Given the description of an element on the screen output the (x, y) to click on. 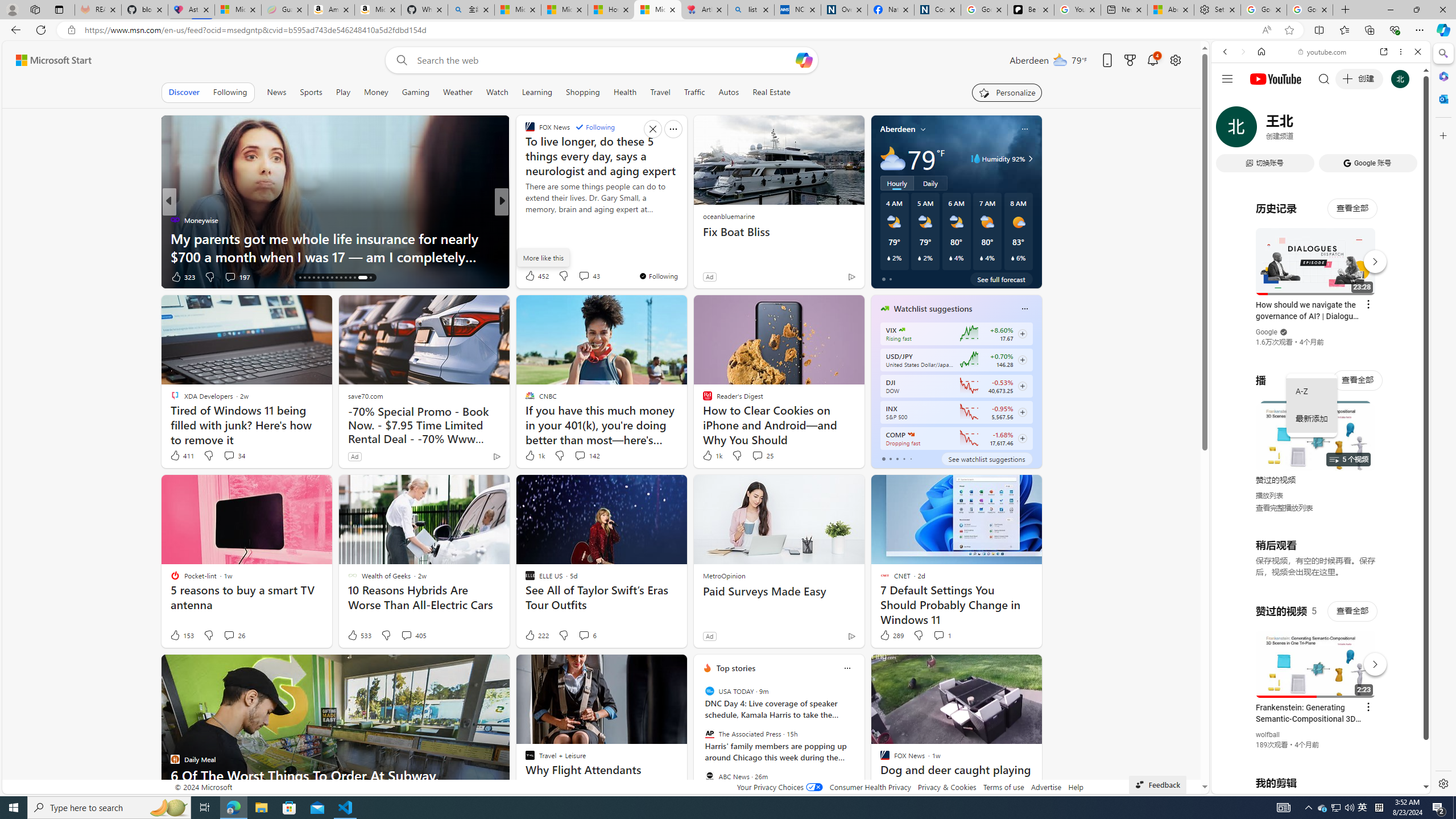
View comments 6 Comment (587, 634)
SEARCH TOOLS (1350, 130)
1k Like (711, 455)
Class: dict_pnIcon rms_img (1312, 784)
Trailer #2 [HD] (1320, 337)
View comments 26 Comment (233, 634)
Daily (929, 183)
NASDAQ (910, 434)
Play (342, 92)
Search Filter, WEB (1230, 129)
